Given the description of an element on the screen output the (x, y) to click on. 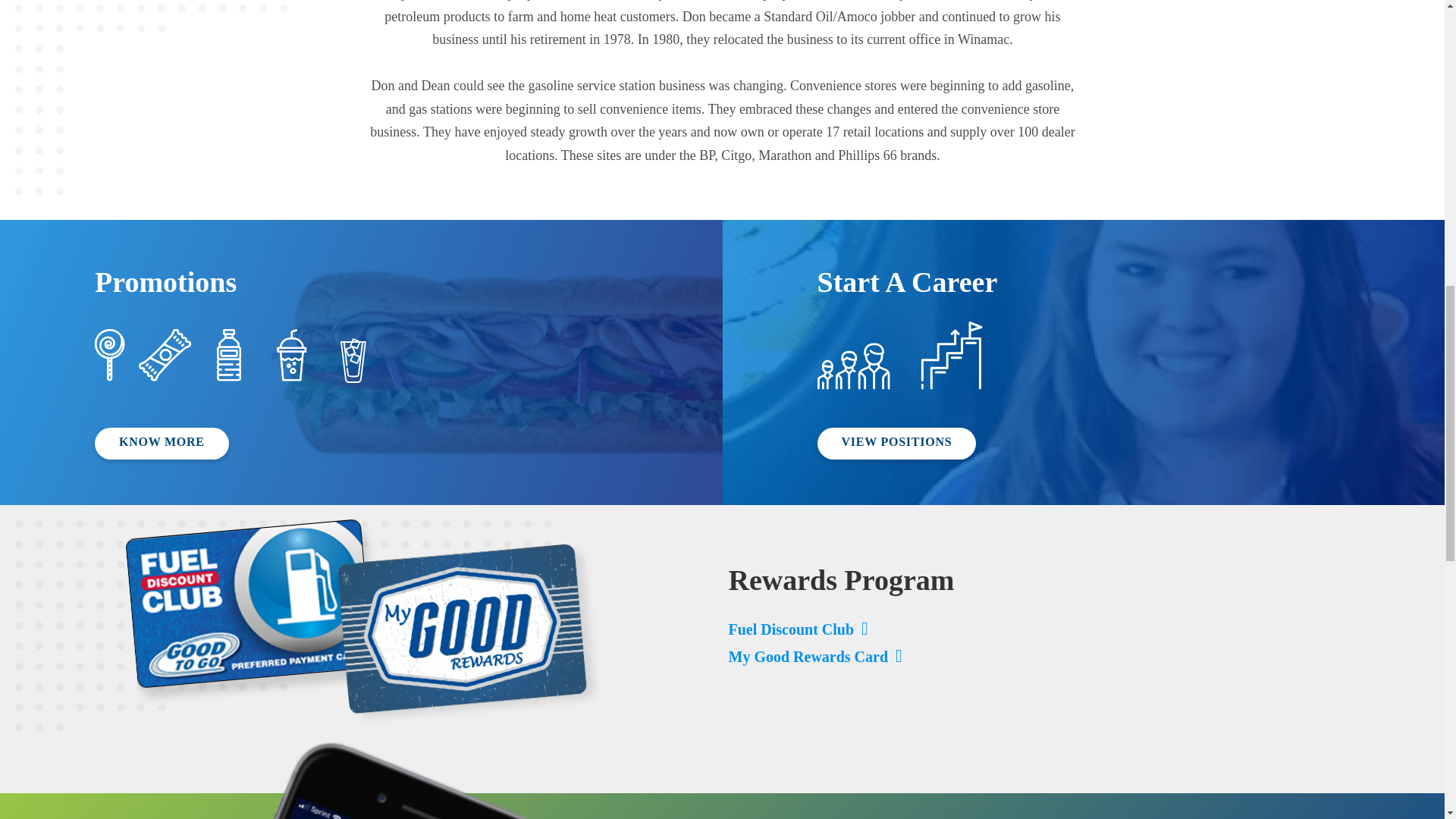
VIEW POSITIONS (896, 443)
My Good Rewards Card (814, 656)
Fuel Discount Club (797, 629)
KNOW MORE (161, 443)
